Given the description of an element on the screen output the (x, y) to click on. 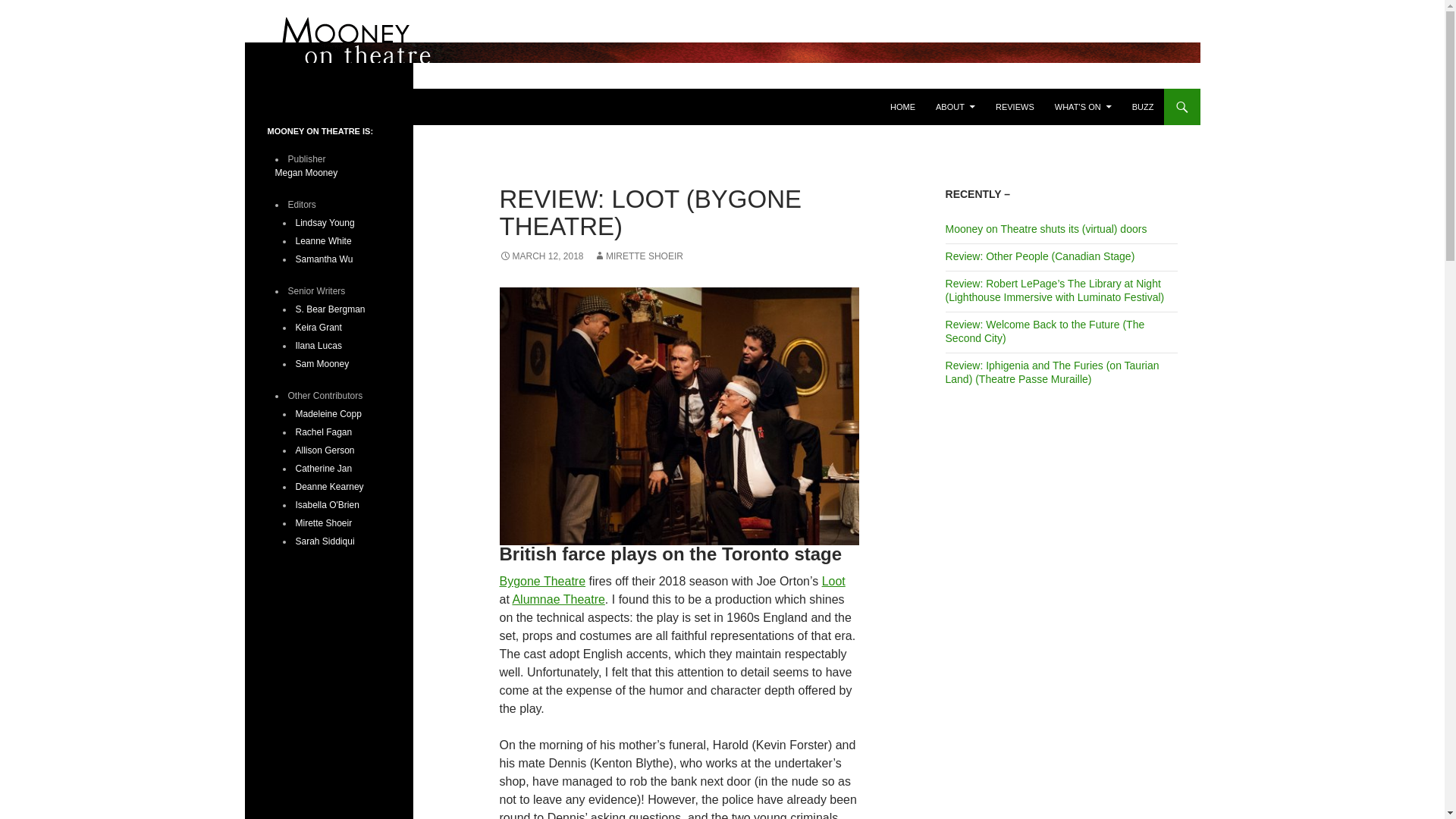
REVIEWS (1015, 106)
Mooney on Theatre (328, 106)
Megan Mooney (306, 172)
Ilana Lucas (318, 345)
Lindsay Young (325, 222)
HOME (902, 106)
Keira Grant (318, 327)
Sam Mooney (322, 363)
